Given the description of an element on the screen output the (x, y) to click on. 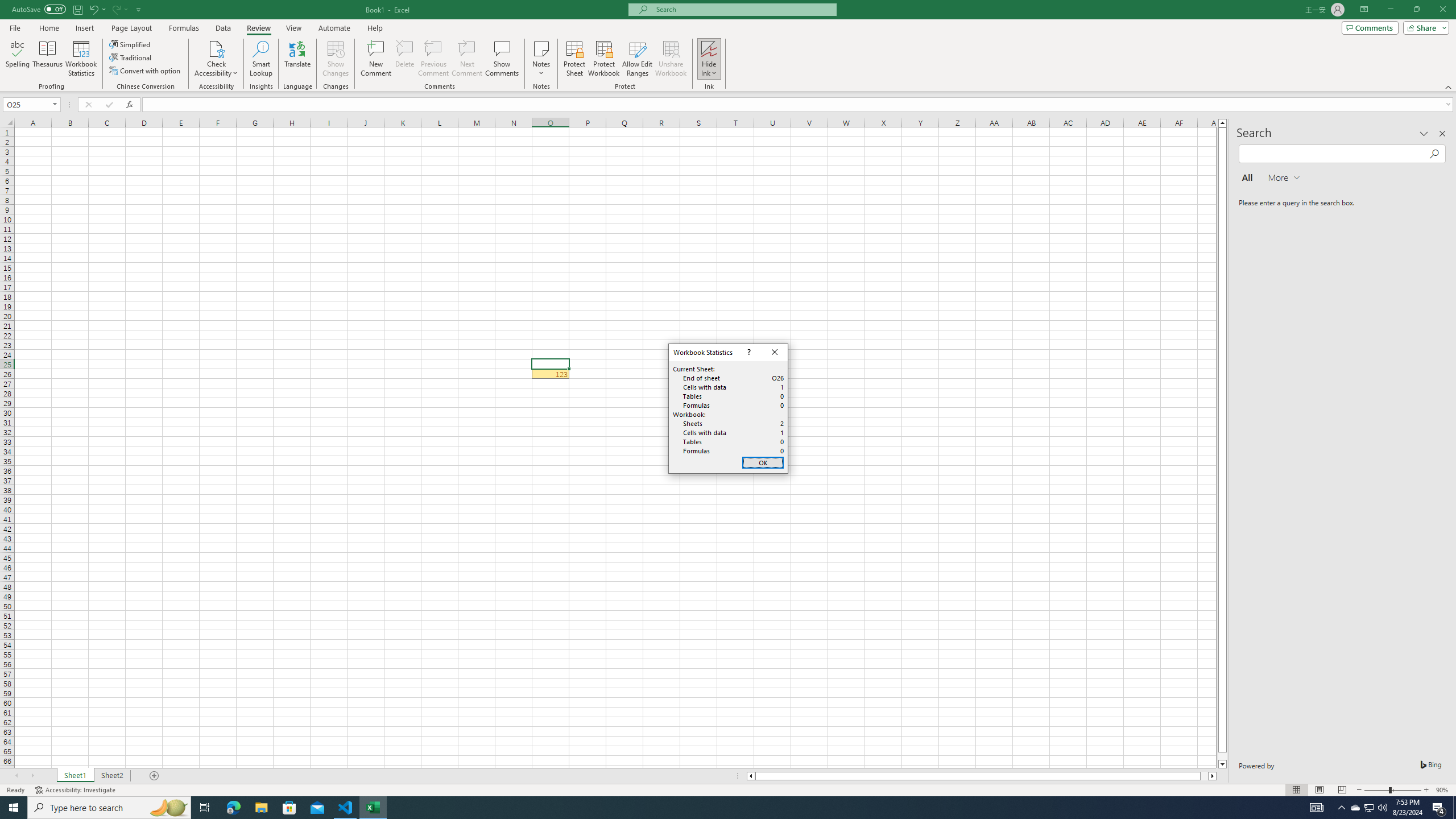
Simplified (130, 44)
Excel - 1 running window (373, 807)
Task View (204, 807)
Running applications (717, 807)
Workbook Statistics (81, 58)
Notes (541, 58)
Q2790: 100% (1382, 807)
Microsoft Edge (233, 807)
